Given the description of an element on the screen output the (x, y) to click on. 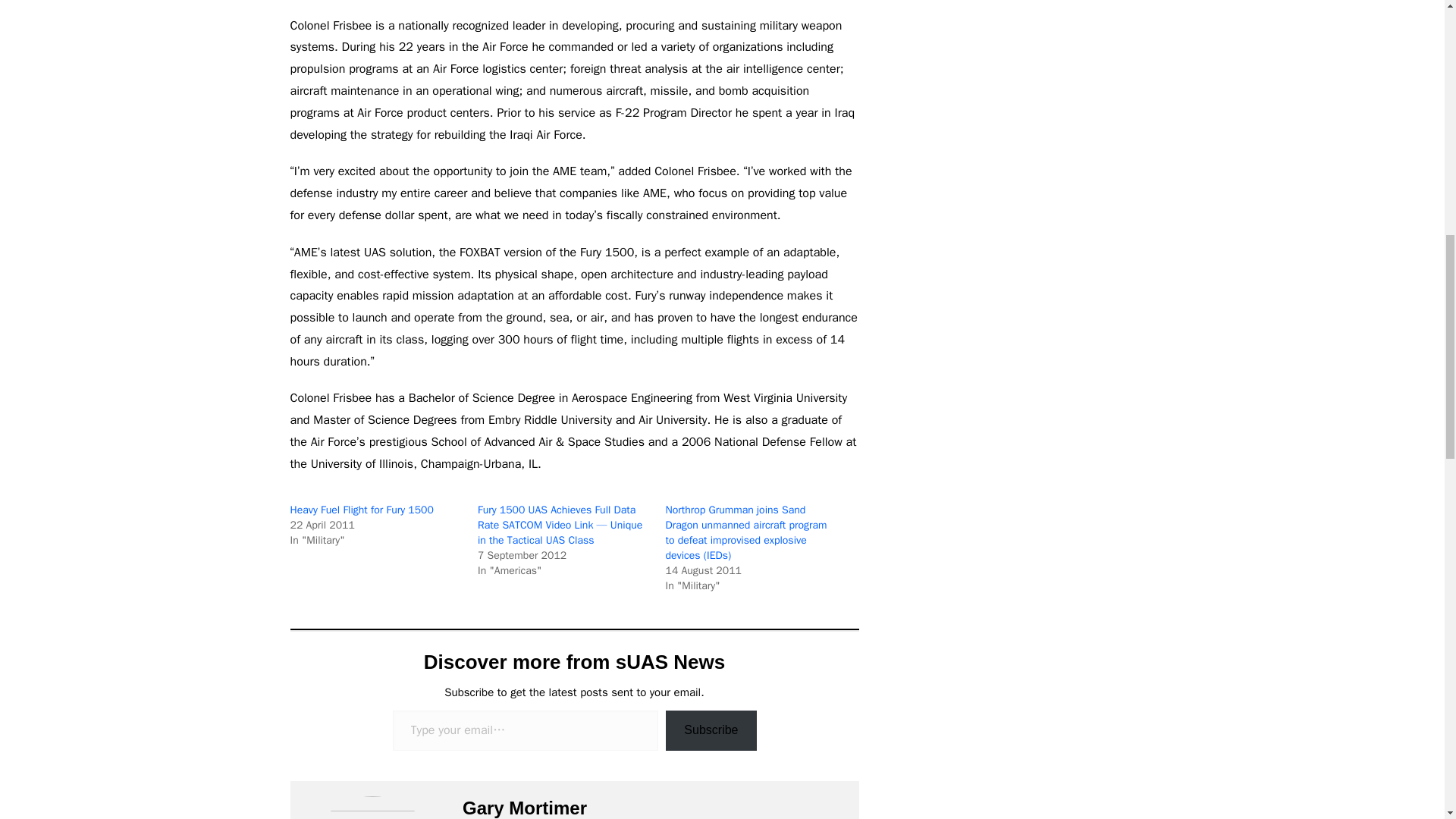
Heavy Fuel Flight for Fury 1500 (360, 509)
Please fill in this field. (526, 730)
Heavy Fuel Flight for Fury 1500 (360, 509)
Subscribe (710, 730)
